Given the description of an element on the screen output the (x, y) to click on. 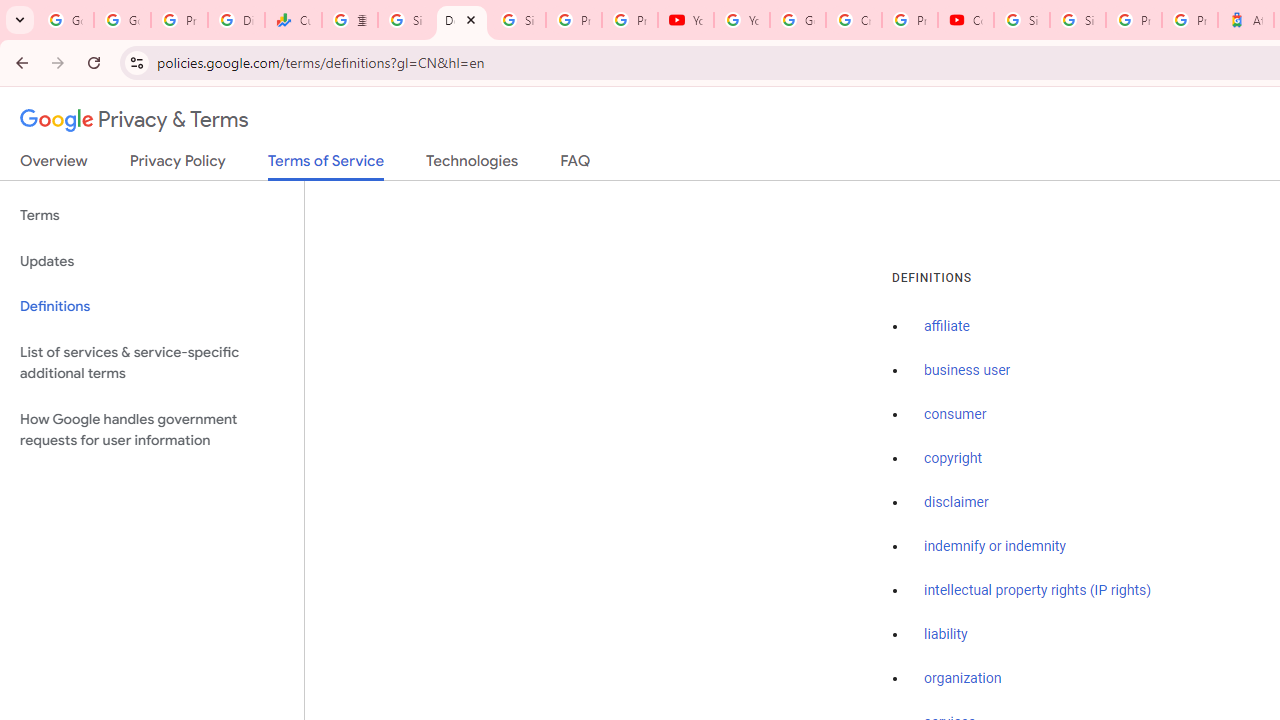
Create your Google Account (853, 20)
Google Account Help (797, 20)
Sign in - Google Accounts (518, 20)
Sign in - Google Accounts (1077, 20)
Google Workspace Admin Community (65, 20)
liability (945, 634)
copyright (952, 459)
